Given the description of an element on the screen output the (x, y) to click on. 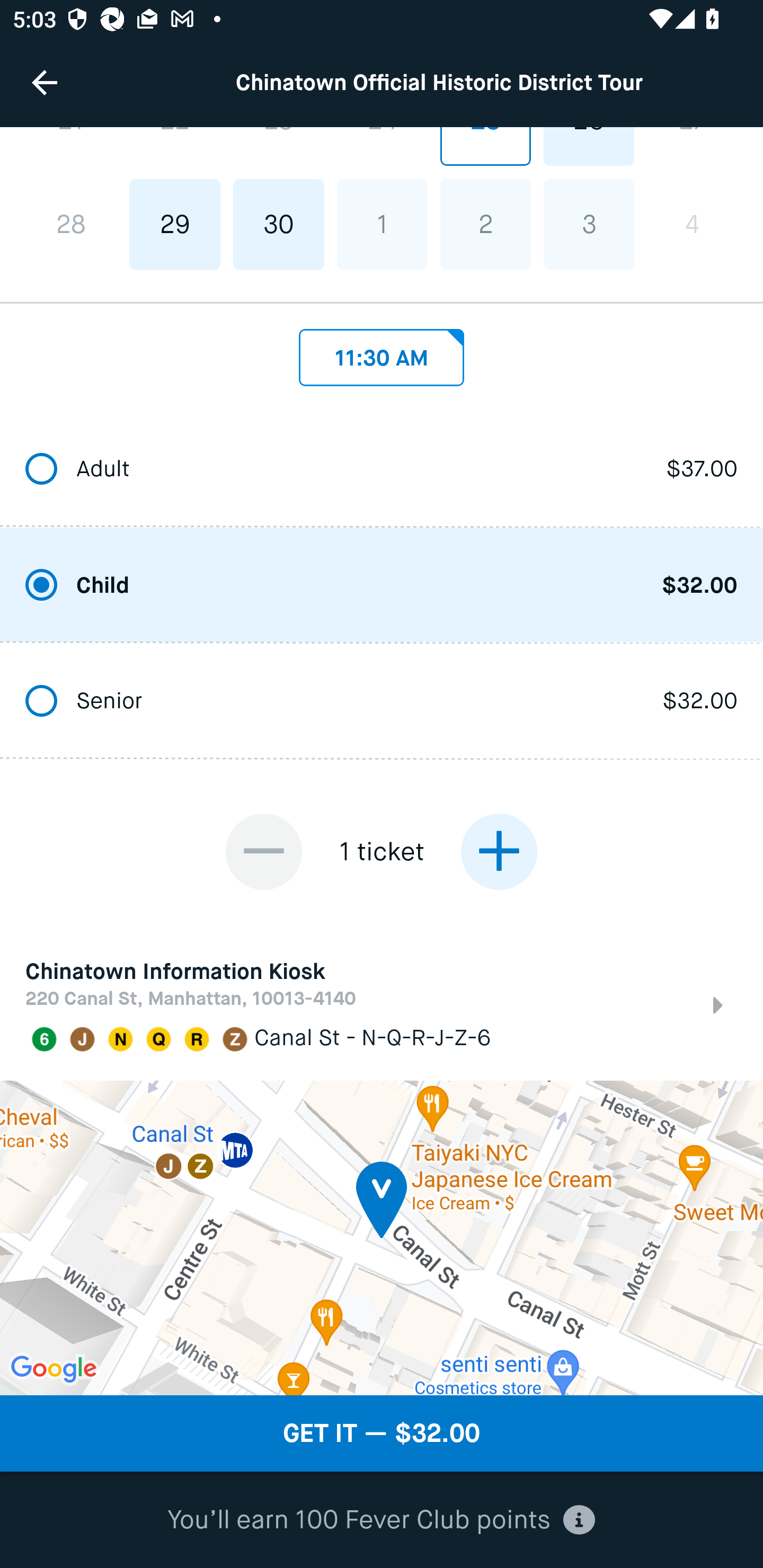
Navigate up (44, 82)
28 (70, 223)
29 (174, 223)
30 (278, 223)
1 (382, 223)
2 (485, 223)
3 (588, 223)
4 (692, 223)
11:30 AM (381, 352)
Adult $37.00 (381, 468)
Child $32.00 (381, 584)
Senior $32.00 (381, 700)
decrease (263, 851)
increase (498, 851)
Google Map Map Marker (381, 1237)
GET IT — $32.00 (381, 1433)
You’ll earn 100 Fever Club points (381, 1519)
